Given the description of an element on the screen output the (x, y) to click on. 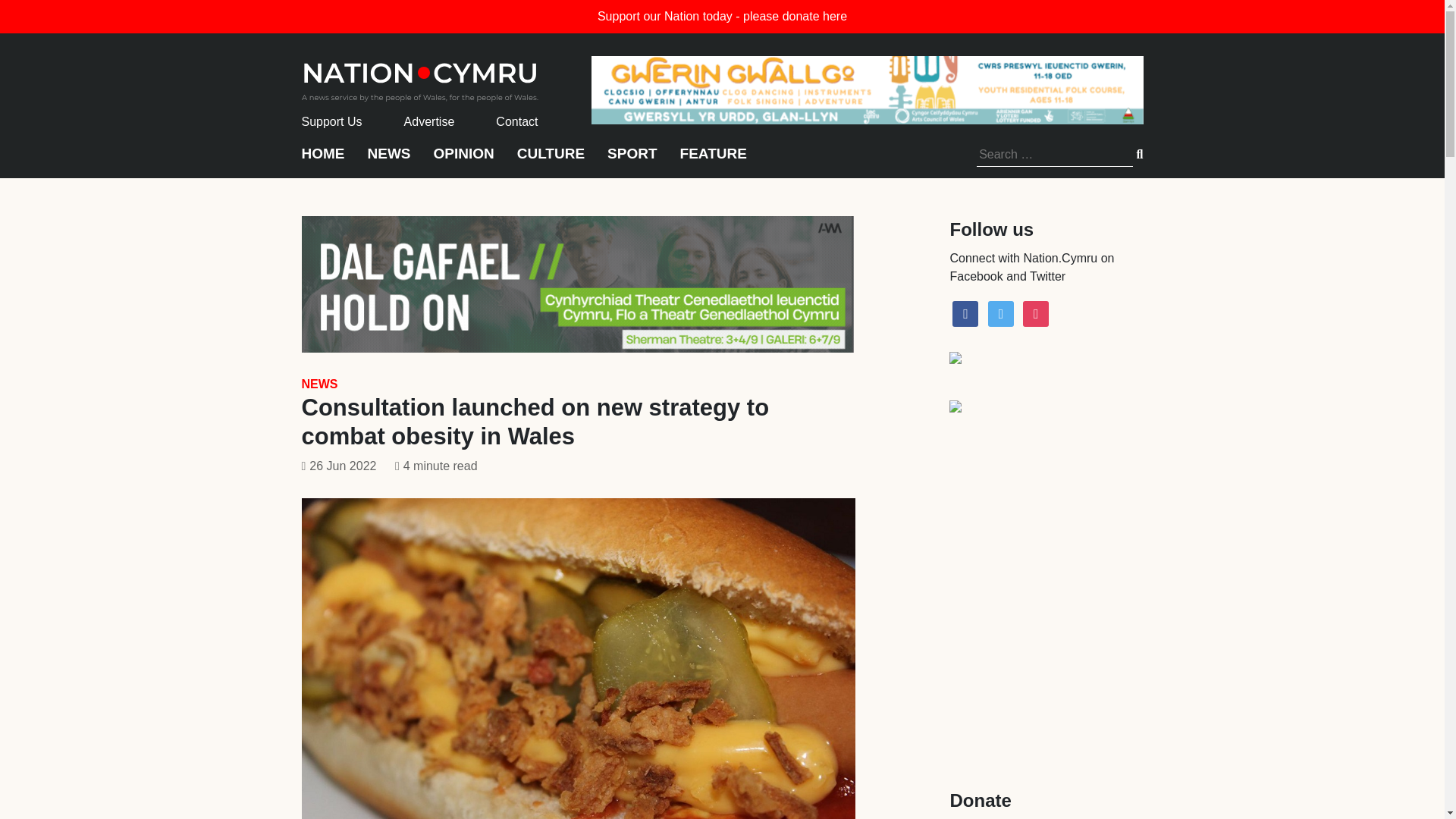
OPINION (464, 160)
FEATURE (712, 160)
Contact (516, 121)
CULTURE (550, 160)
home (419, 77)
NEWS (319, 383)
Advertise (429, 121)
NEWS (388, 160)
Support Us (331, 121)
SPORT (631, 160)
